Given the description of an element on the screen output the (x, y) to click on. 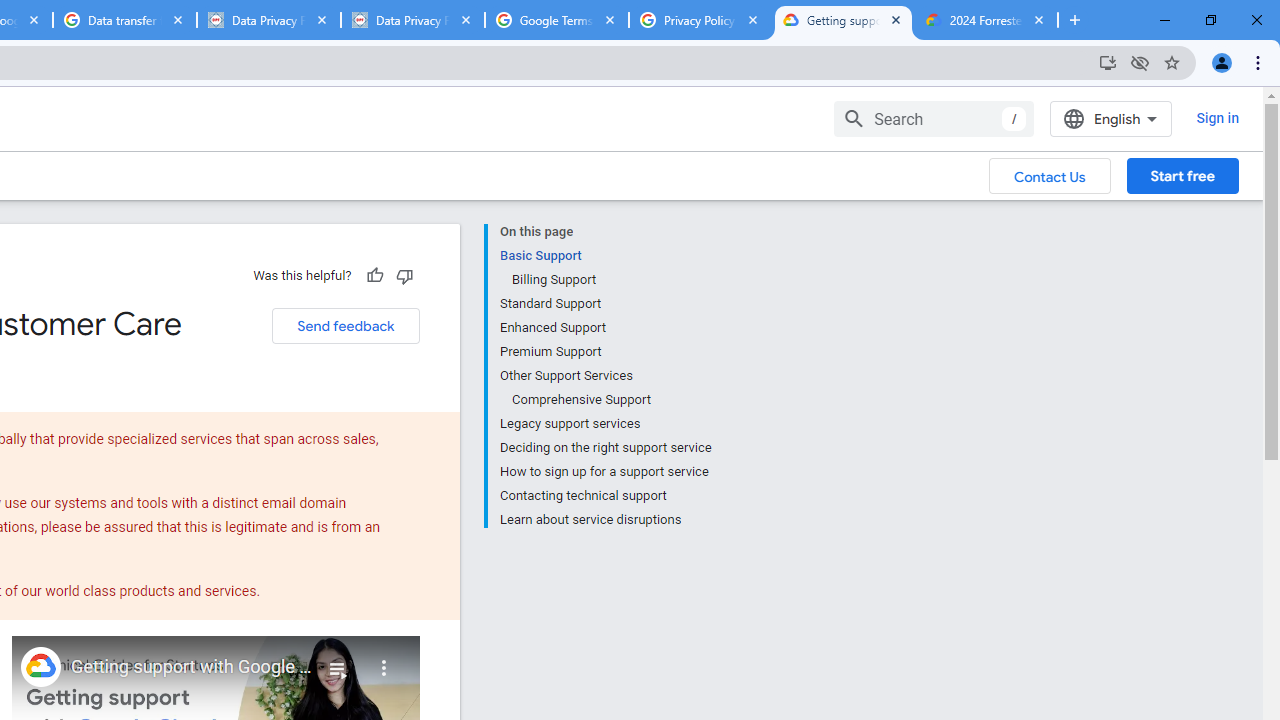
Send feedback (345, 326)
Learn about service disruptions (605, 517)
Other Support Services (605, 376)
How to sign up for a support service (605, 471)
Legacy support services (605, 423)
Playlist (337, 660)
Data Privacy Framework (268, 20)
Comprehensive Support (610, 399)
Premium Support (605, 351)
Basic Support (605, 255)
Install Google Cloud (1107, 62)
Contacting technical support (605, 495)
